Given the description of an element on the screen output the (x, y) to click on. 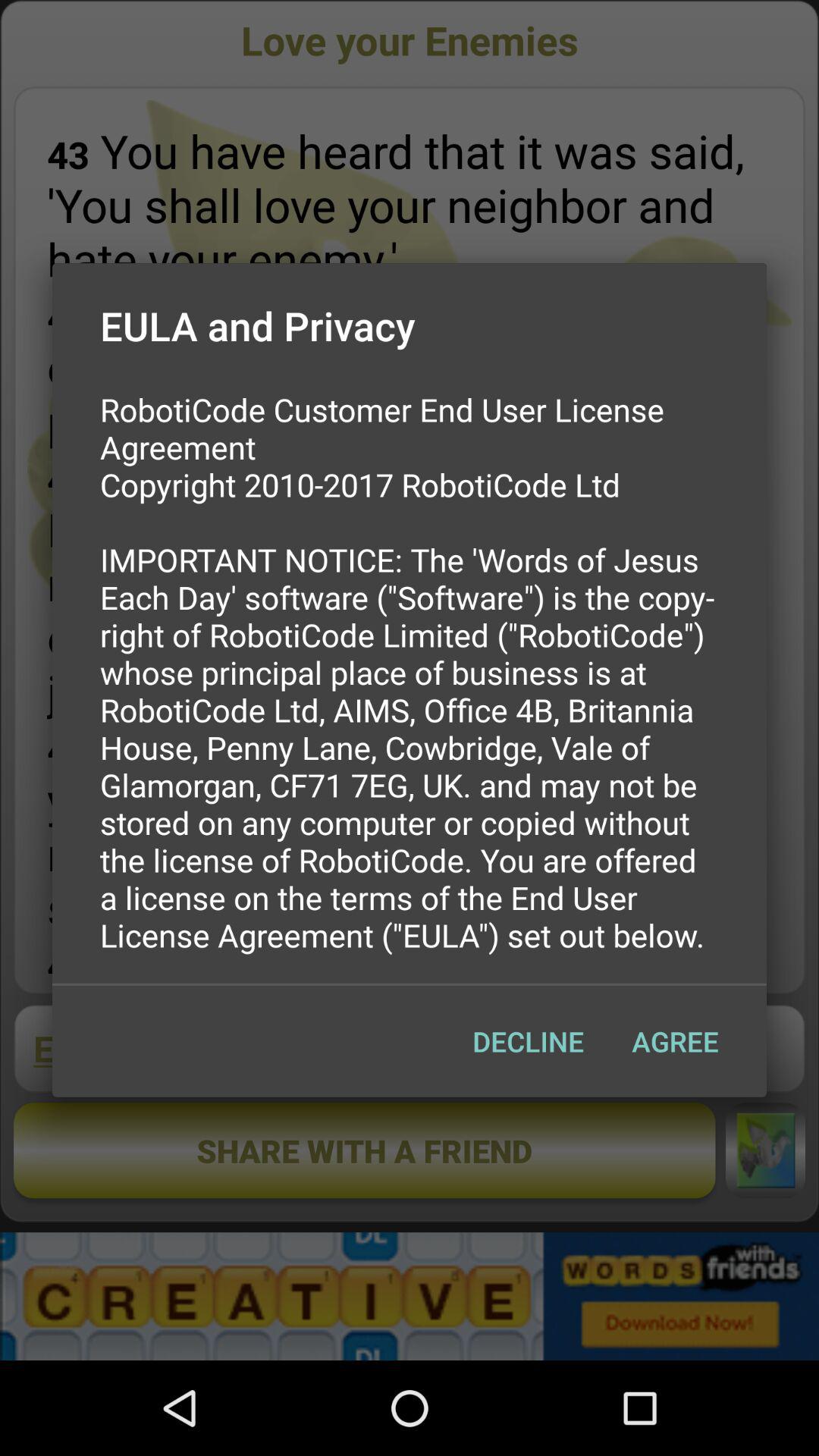
launch the button next to the agree (527, 1041)
